Given the description of an element on the screen output the (x, y) to click on. 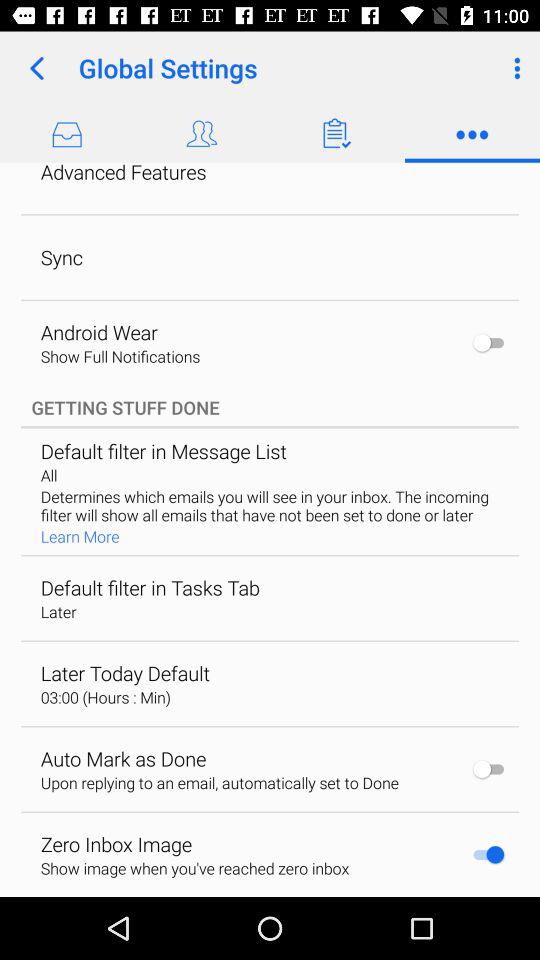
click icon above sync app (123, 173)
